Given the description of an element on the screen output the (x, y) to click on. 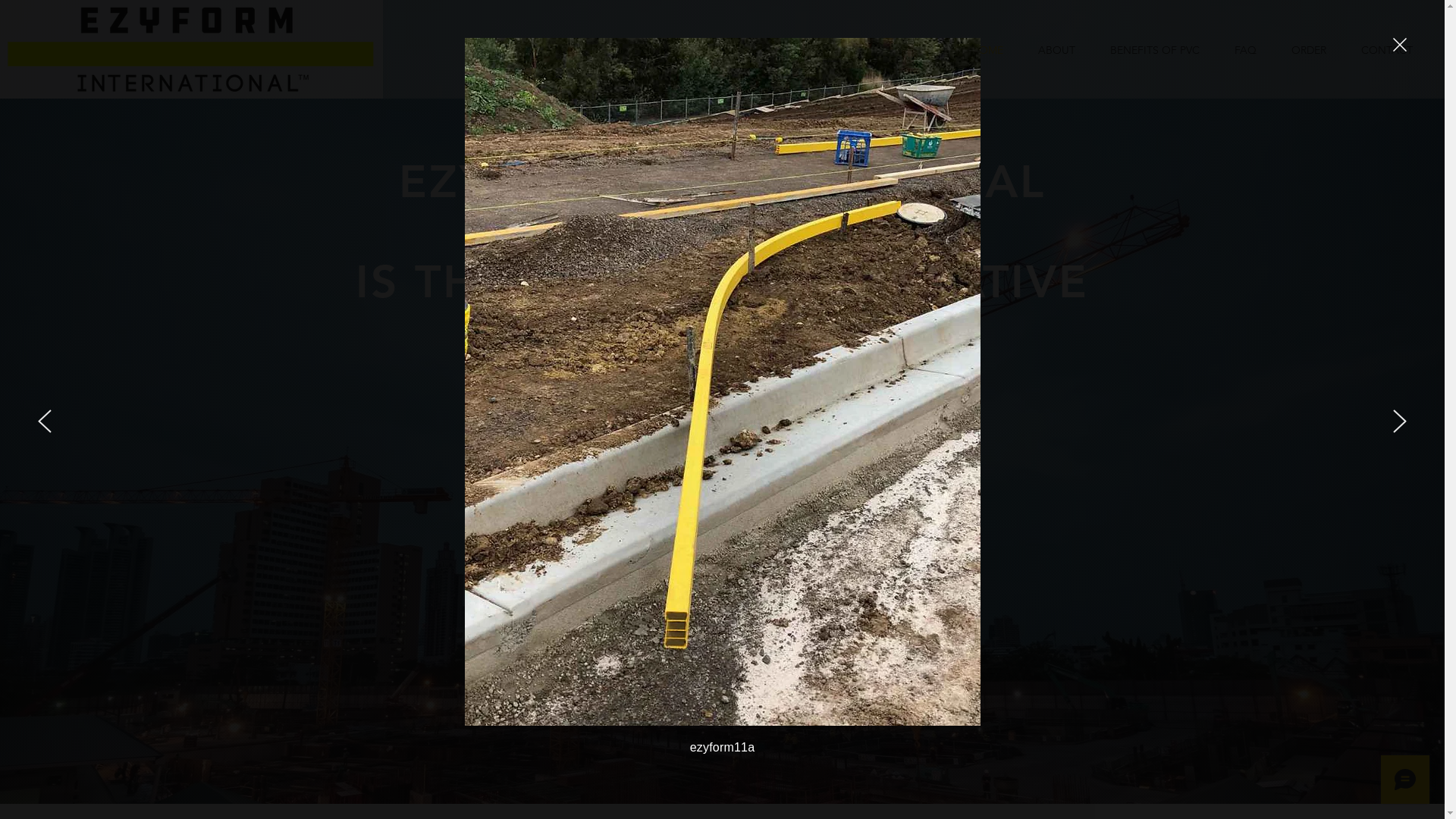
BENEFITS OF PVC Element type: text (1154, 50)
FAQ Element type: text (1245, 50)
HOME Element type: text (986, 50)
CONTACT Element type: text (1386, 50)
ABOUT Element type: text (1056, 50)
ORDER Element type: text (1308, 50)
